Given the description of an element on the screen output the (x, y) to click on. 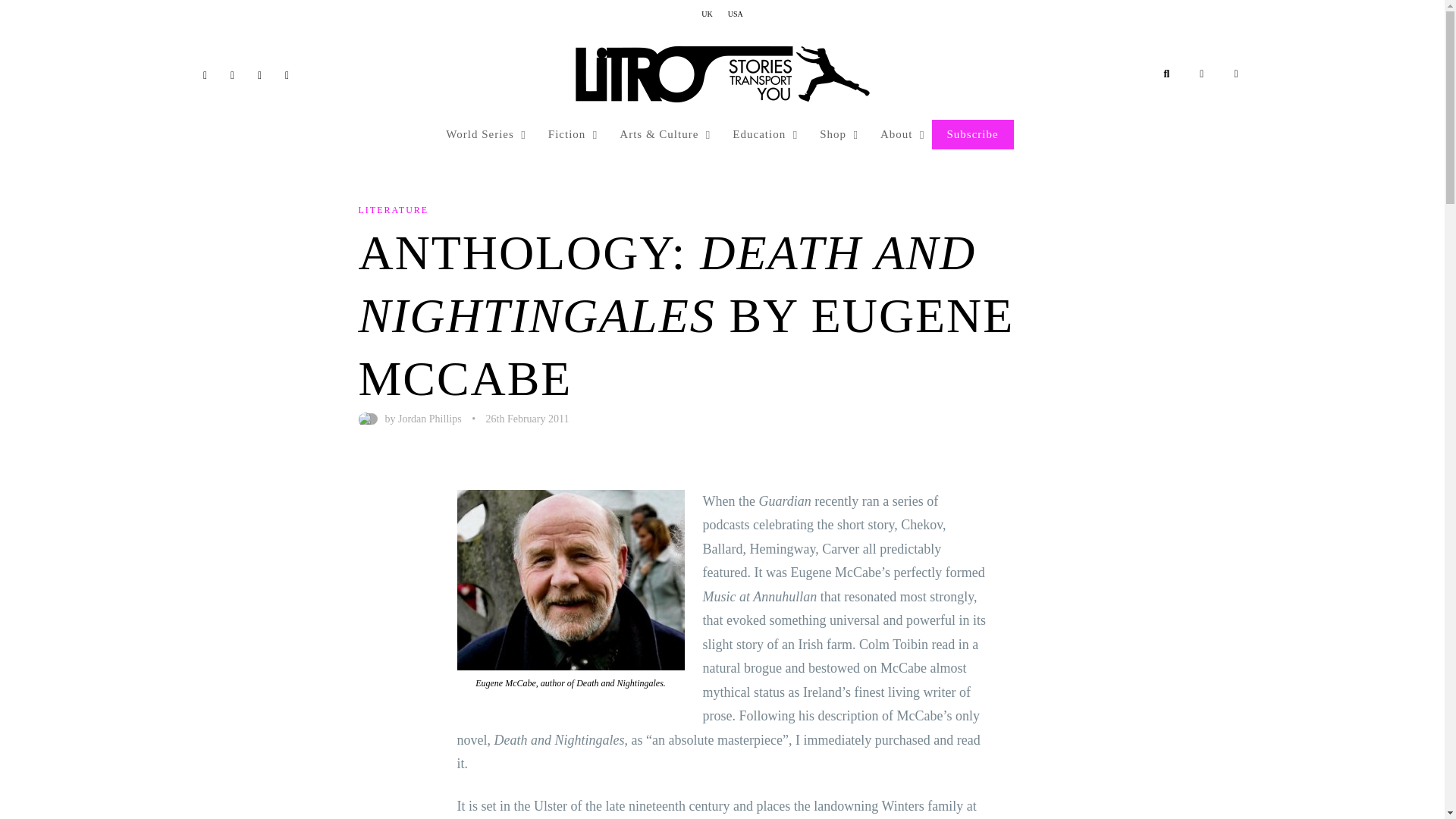
1:11 pm (527, 419)
USA (735, 13)
Fiction (568, 134)
Posts by Jordan Phillips (367, 419)
UK (706, 13)
Litro Magazine (722, 74)
World Series (481, 134)
View all posts by Jordan Phillips (429, 419)
McCabe (570, 579)
